Given the description of an element on the screen output the (x, y) to click on. 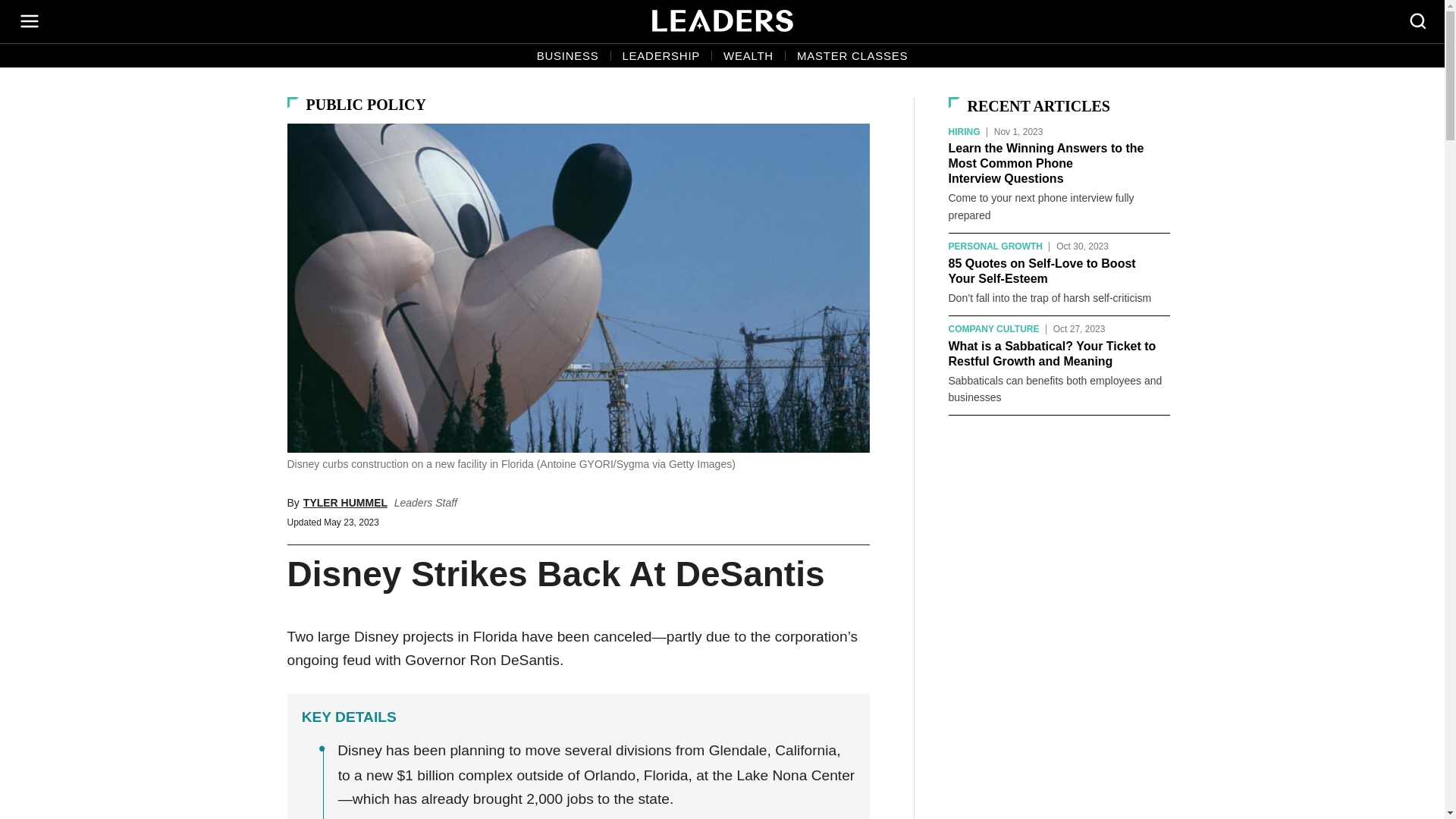
LEADERSHIP (661, 55)
Leaders.com (722, 20)
BUSINESS (567, 55)
TYLER HUMMEL (344, 502)
MASTER CLASSES (852, 55)
PUBLIC POLICY (365, 104)
WEALTH (747, 55)
